Given the description of an element on the screen output the (x, y) to click on. 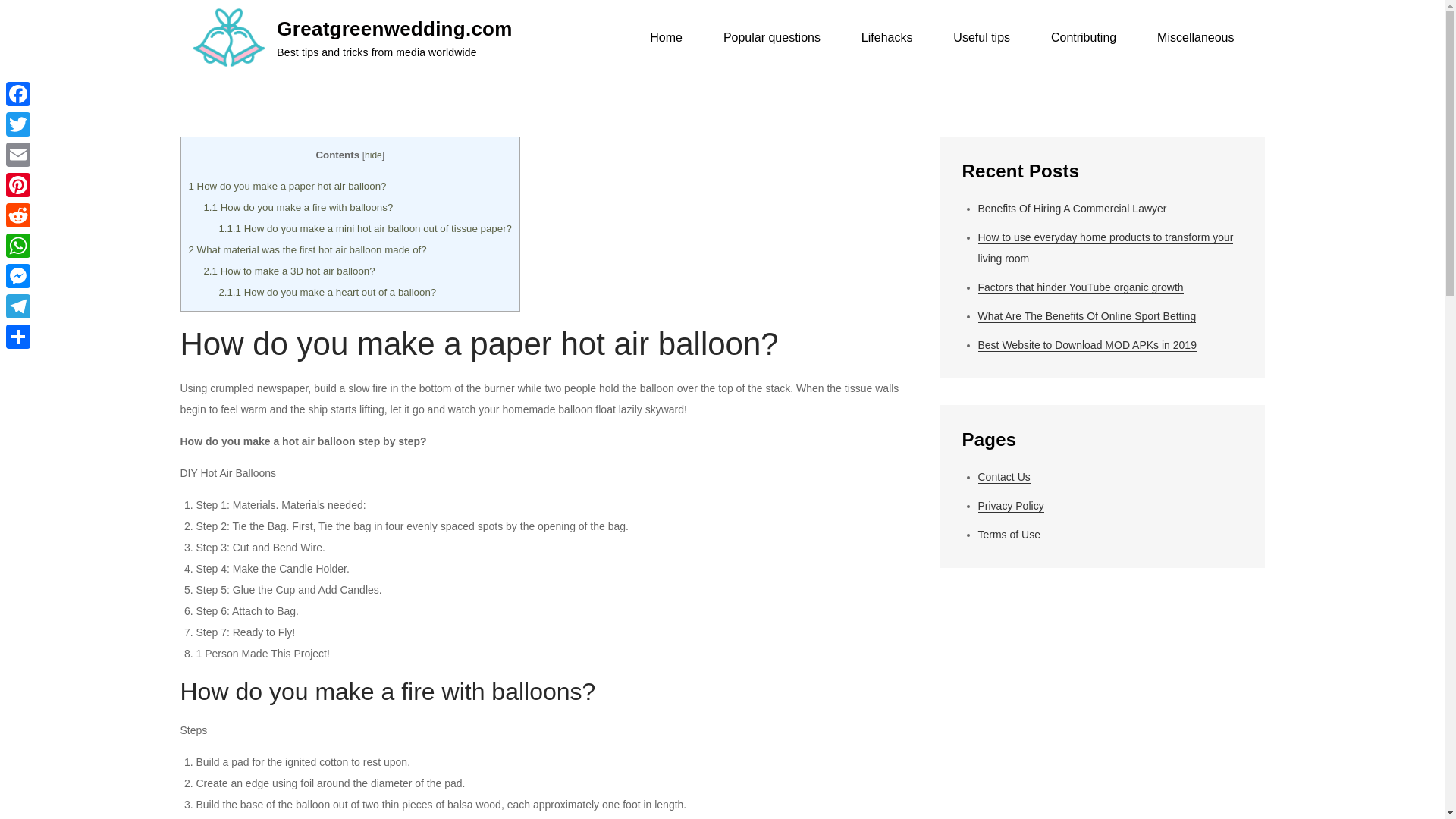
Benefits Of Hiring A Commercial Lawyer (1072, 208)
2.1 How to make a 3D hot air balloon? (288, 270)
1 How do you make a paper hot air balloon? (286, 185)
What Are The Benefits Of Online Sport Betting (1087, 316)
Pinterest (17, 184)
2.1.1 How do you make a heart out of a balloon? (326, 292)
Messenger (17, 276)
WhatsApp (17, 245)
Twitter (17, 123)
